Given the description of an element on the screen output the (x, y) to click on. 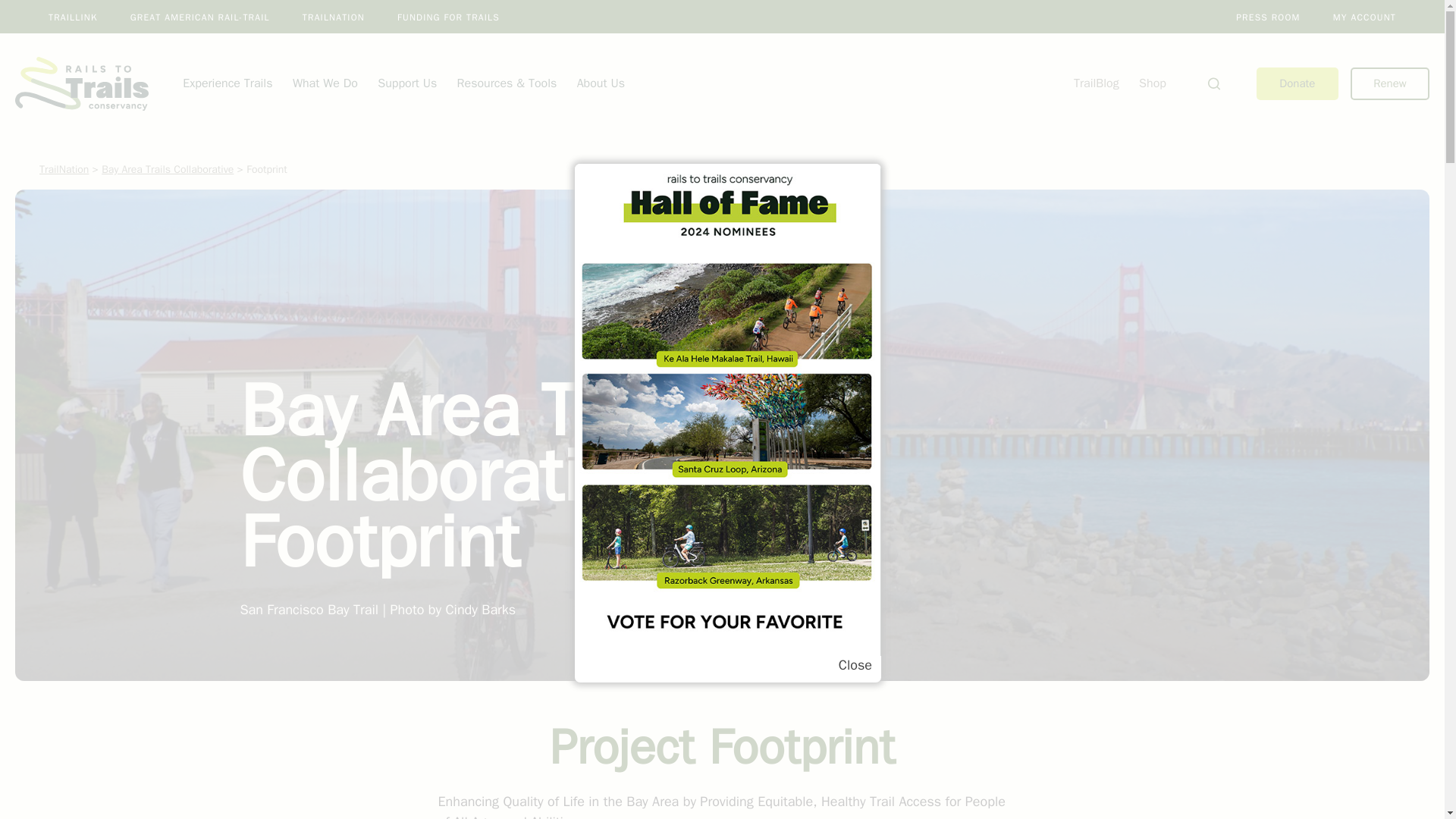
GREAT AMERICAN RAIL-TRAIL (200, 16)
Shop (1152, 83)
TrailBlog (1096, 83)
Support Us (406, 83)
What We Do (325, 83)
TRAILLINK (72, 16)
Shop (1152, 83)
MY ACCOUNT (1364, 16)
TRAILNATION (333, 16)
Experience Trails (227, 83)
FUNDING FOR TRAILS (448, 16)
Donate (1297, 83)
About Us (600, 83)
Donate (1297, 83)
Renew (1390, 83)
